Given the description of an element on the screen output the (x, y) to click on. 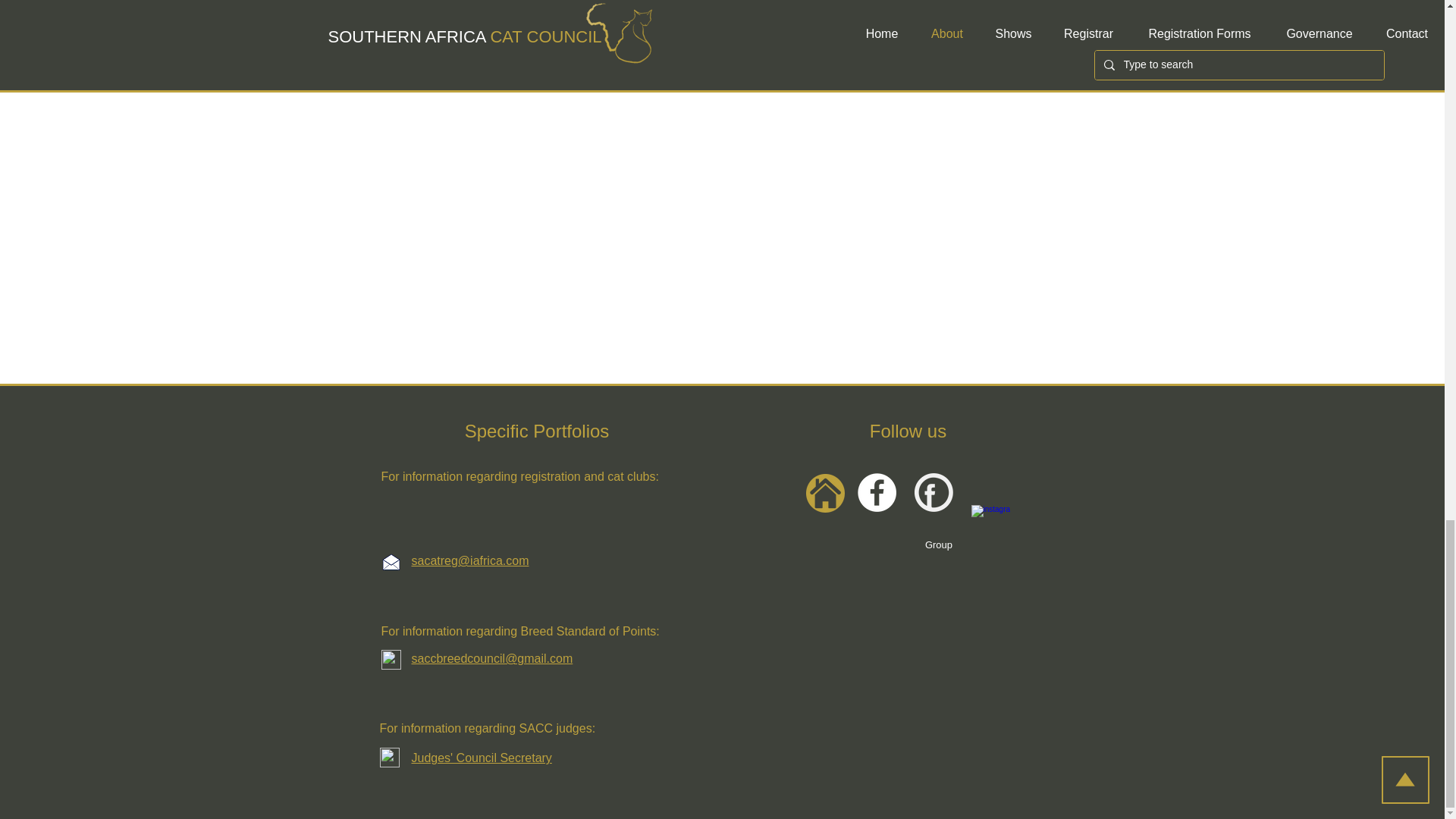
Judges' Council Secretary (480, 757)
